Given the description of an element on the screen output the (x, y) to click on. 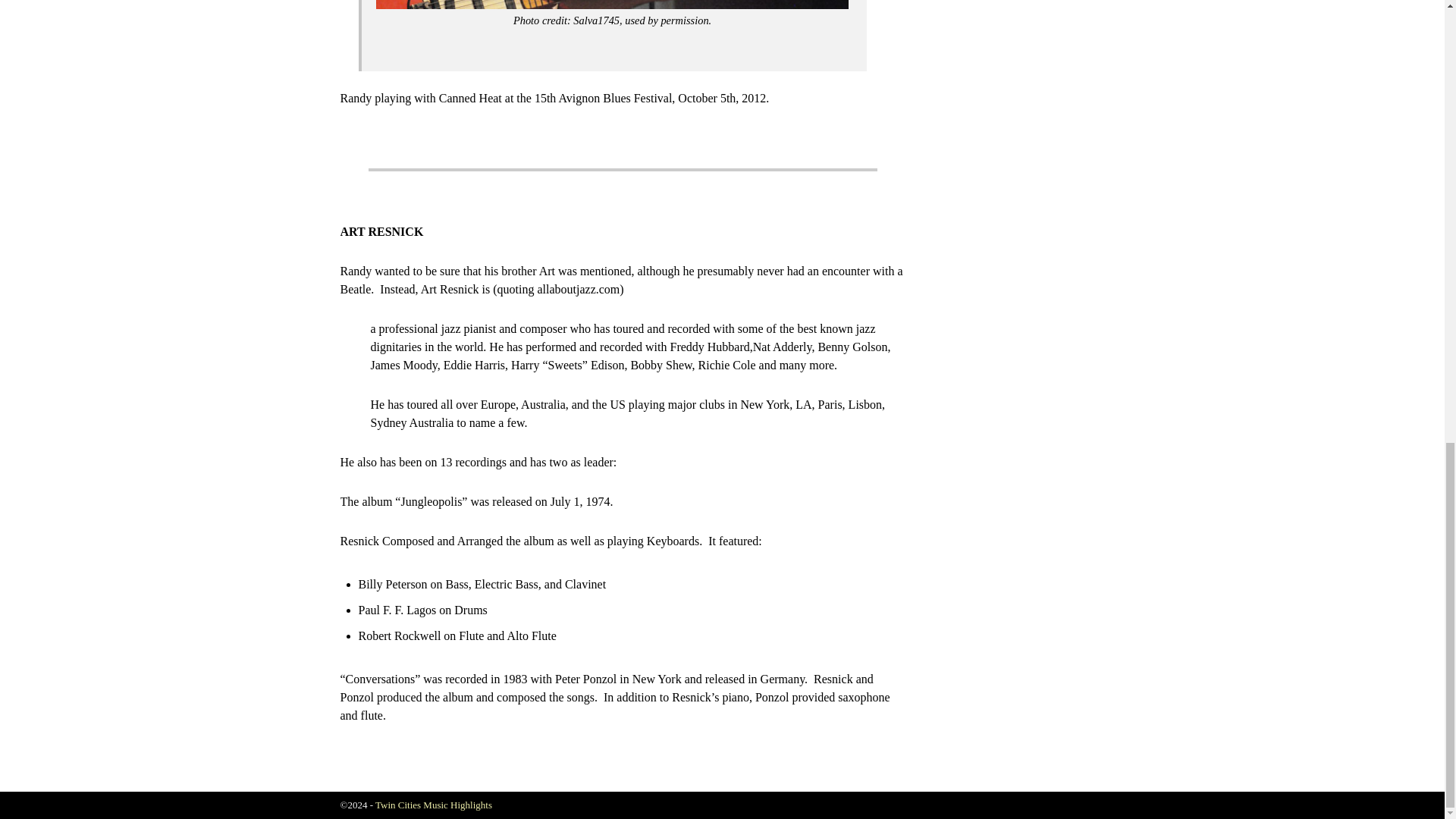
Twin Cities Music Highlights (433, 804)
Twin Cities Music Highlights (433, 804)
